Given the description of an element on the screen output the (x, y) to click on. 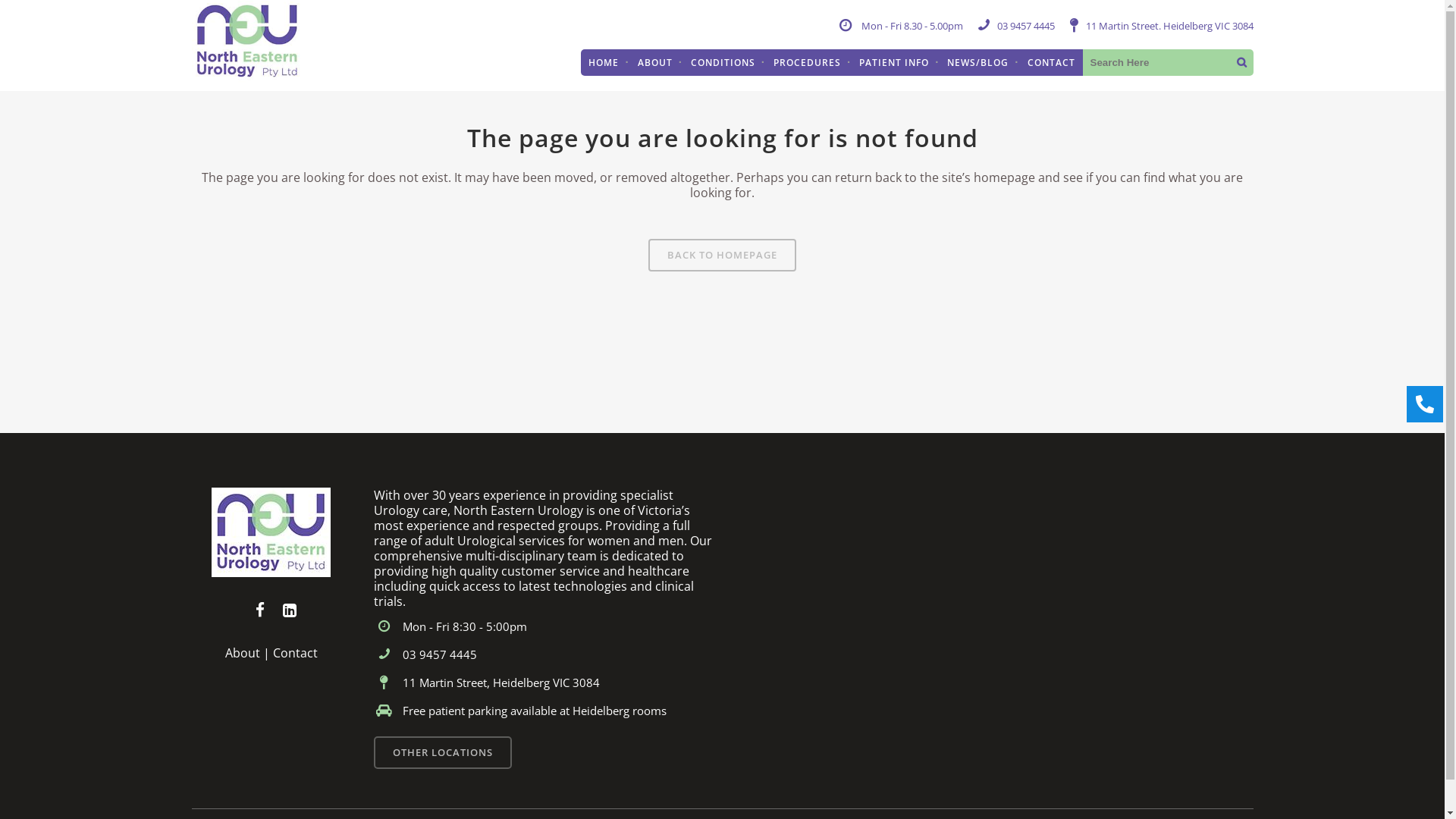
BACK TO HOMEPAGE Element type: text (722, 254)
CONTACT Element type: text (1050, 62)
03 9457 4445 Element type: text (1025, 25)
NEWS/BLOG Element type: text (977, 62)
PROCEDURES Element type: text (806, 62)
OTHER LOCATIONS Element type: text (442, 752)
Contact Element type: text (295, 652)
ABOUT Element type: text (655, 62)
HOME Element type: text (603, 62)
About Element type: text (241, 652)
CONDITIONS Element type: text (722, 62)
PATIENT INFO Element type: text (893, 62)
03 9457 4445 Element type: text (543, 654)
